Given the description of an element on the screen output the (x, y) to click on. 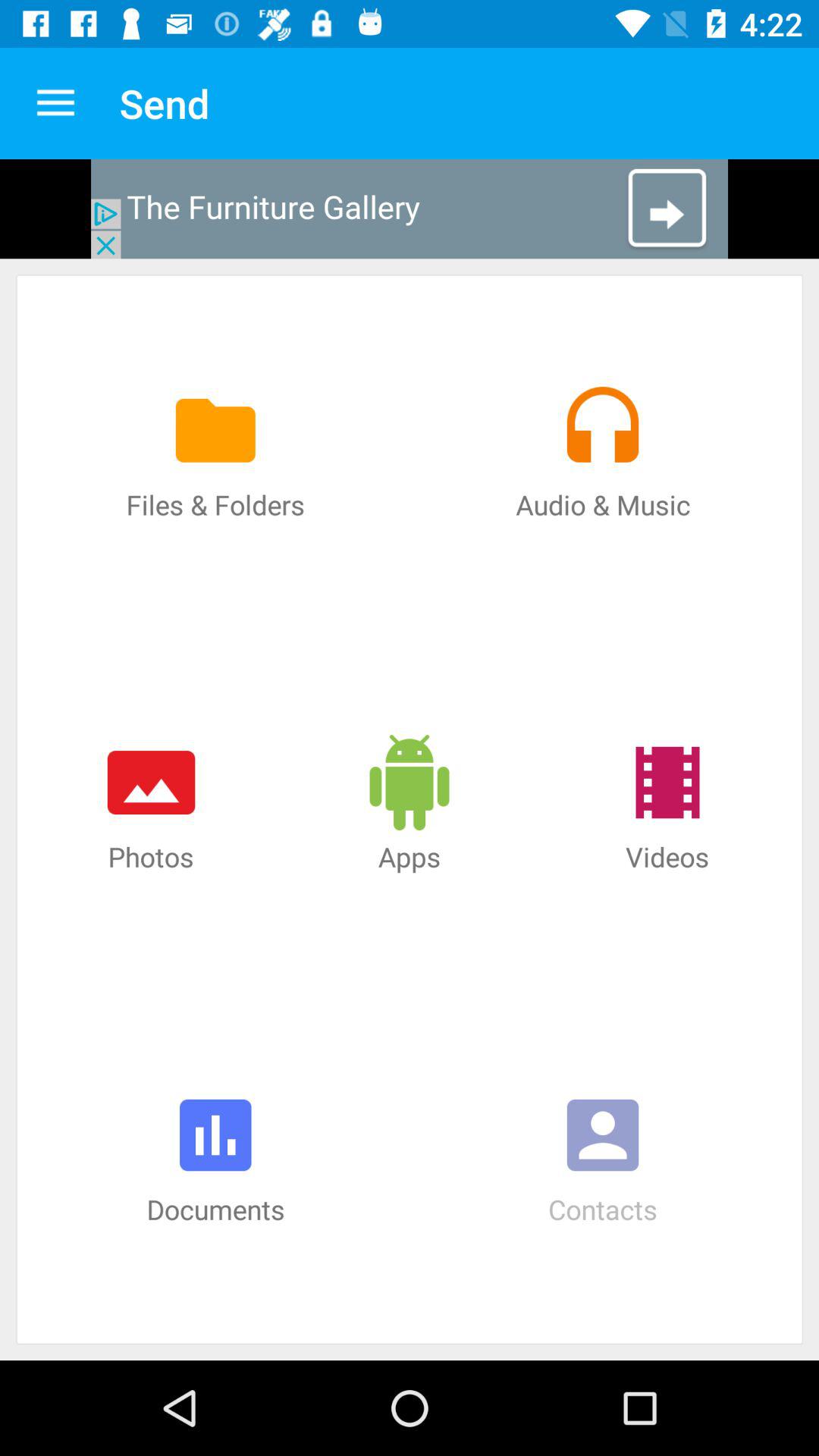
open advertisement (409, 208)
